Given the description of an element on the screen output the (x, y) to click on. 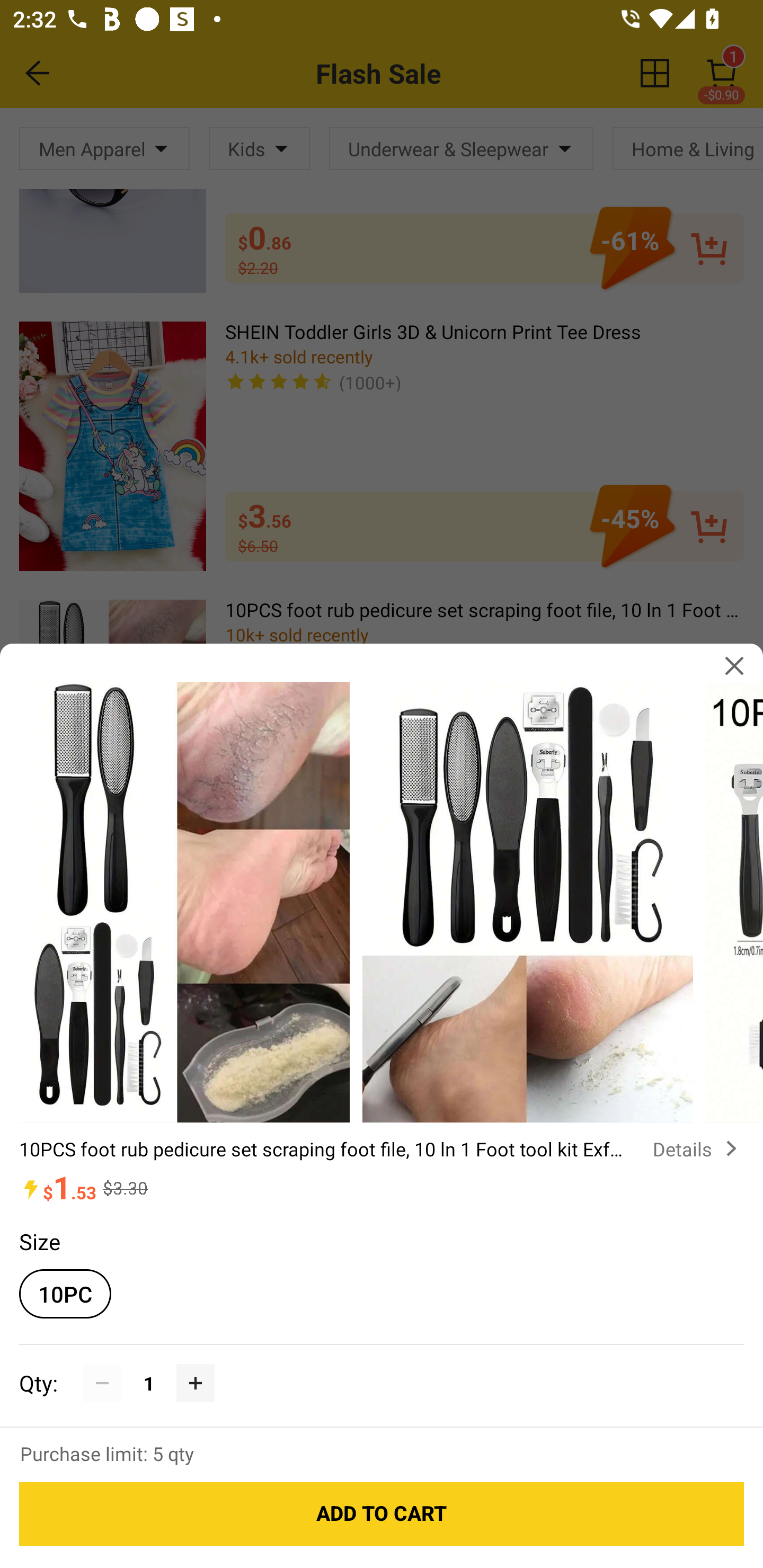
Details (698, 1148)
Size (39, 1240)
10PC 10PCselected option (65, 1293)
ADD TO CART (381, 1513)
